Given the description of an element on the screen output the (x, y) to click on. 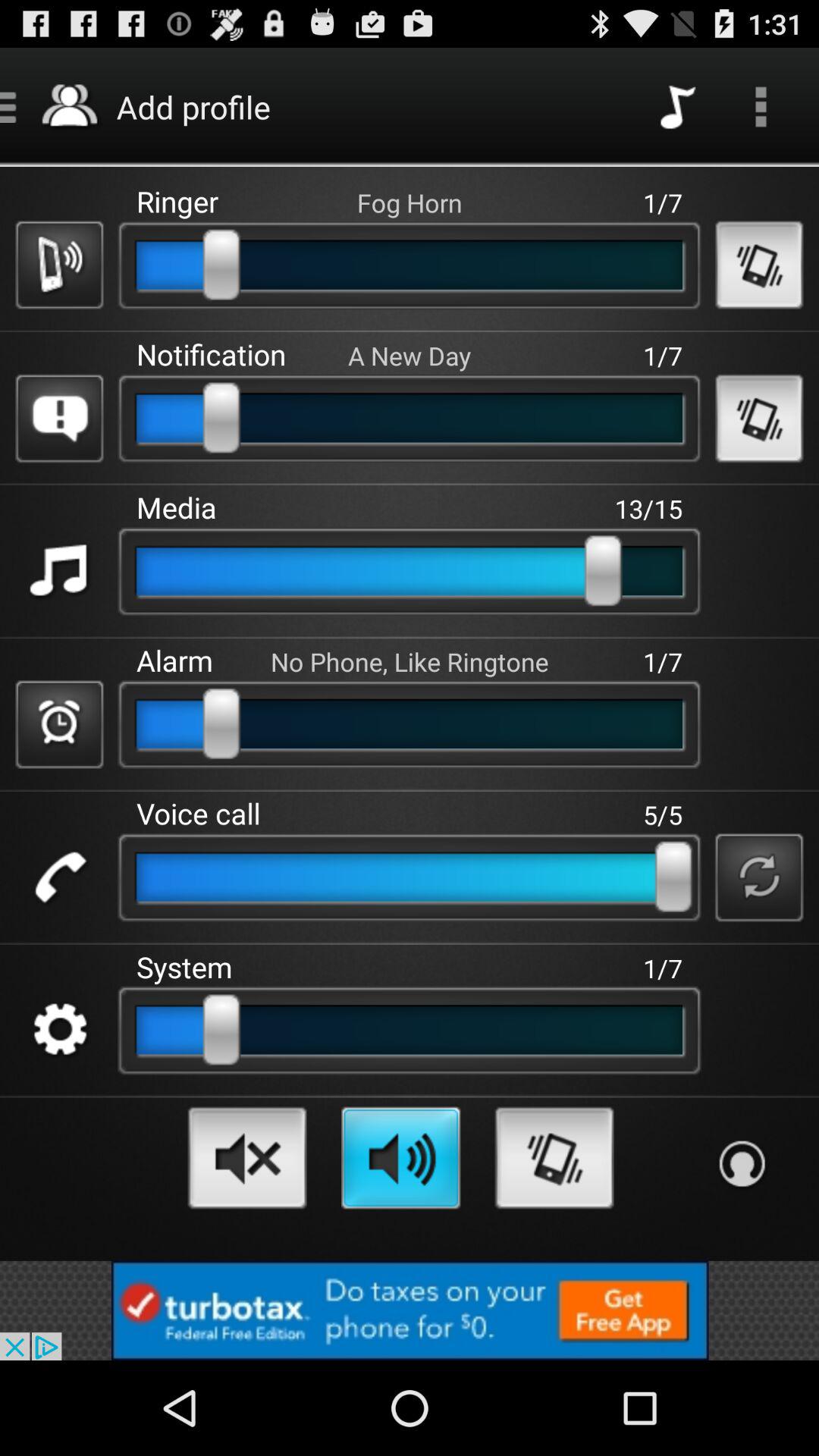
configuration option (59, 1030)
